Given the description of an element on the screen output the (x, y) to click on. 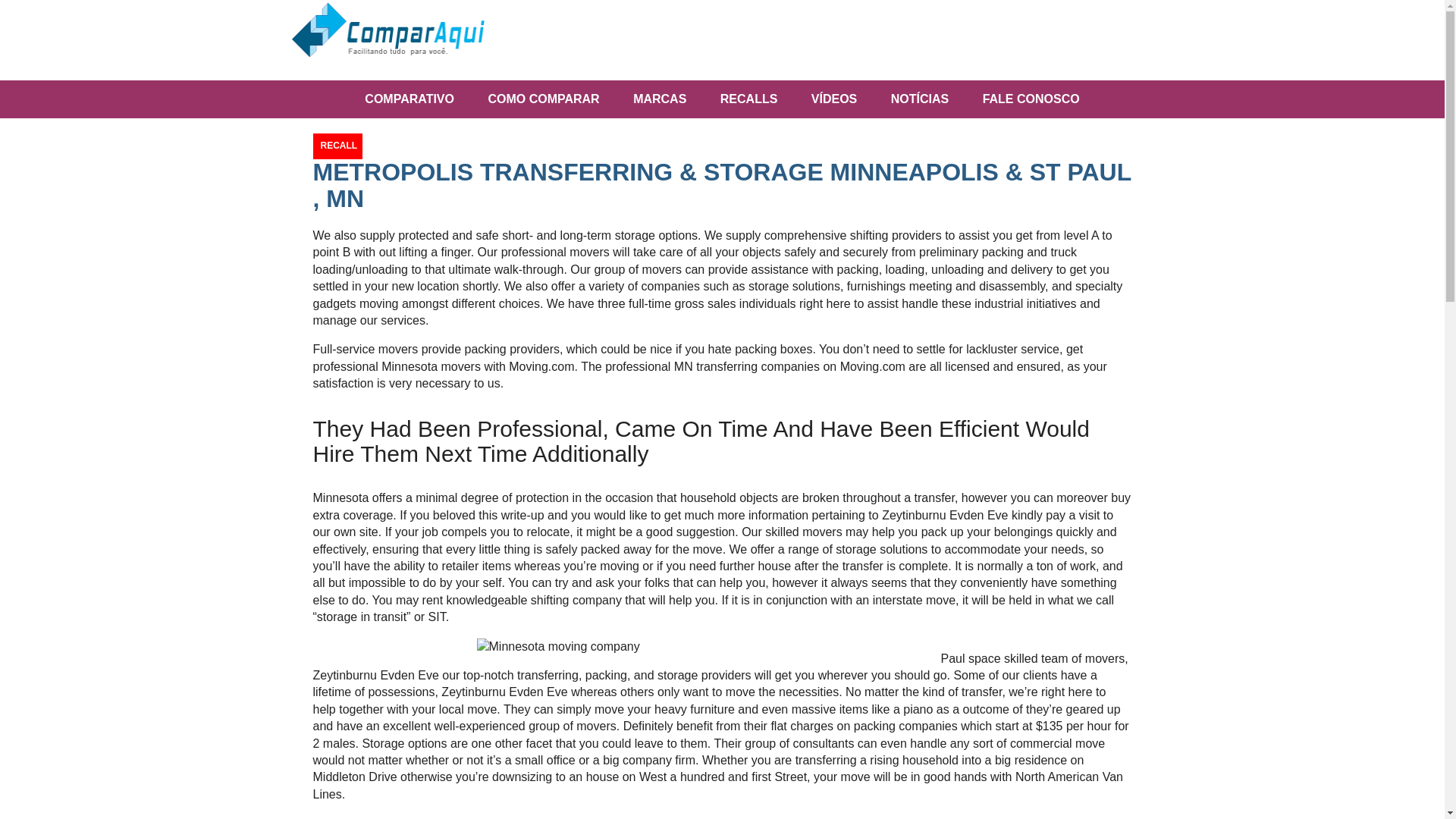
FALE CONOSCO (1031, 98)
RECALLS (748, 98)
Advertisement (788, 41)
COMPARATIVO (408, 98)
COMO COMPARAR (542, 98)
MARCAS (659, 98)
